Given the description of an element on the screen output the (x, y) to click on. 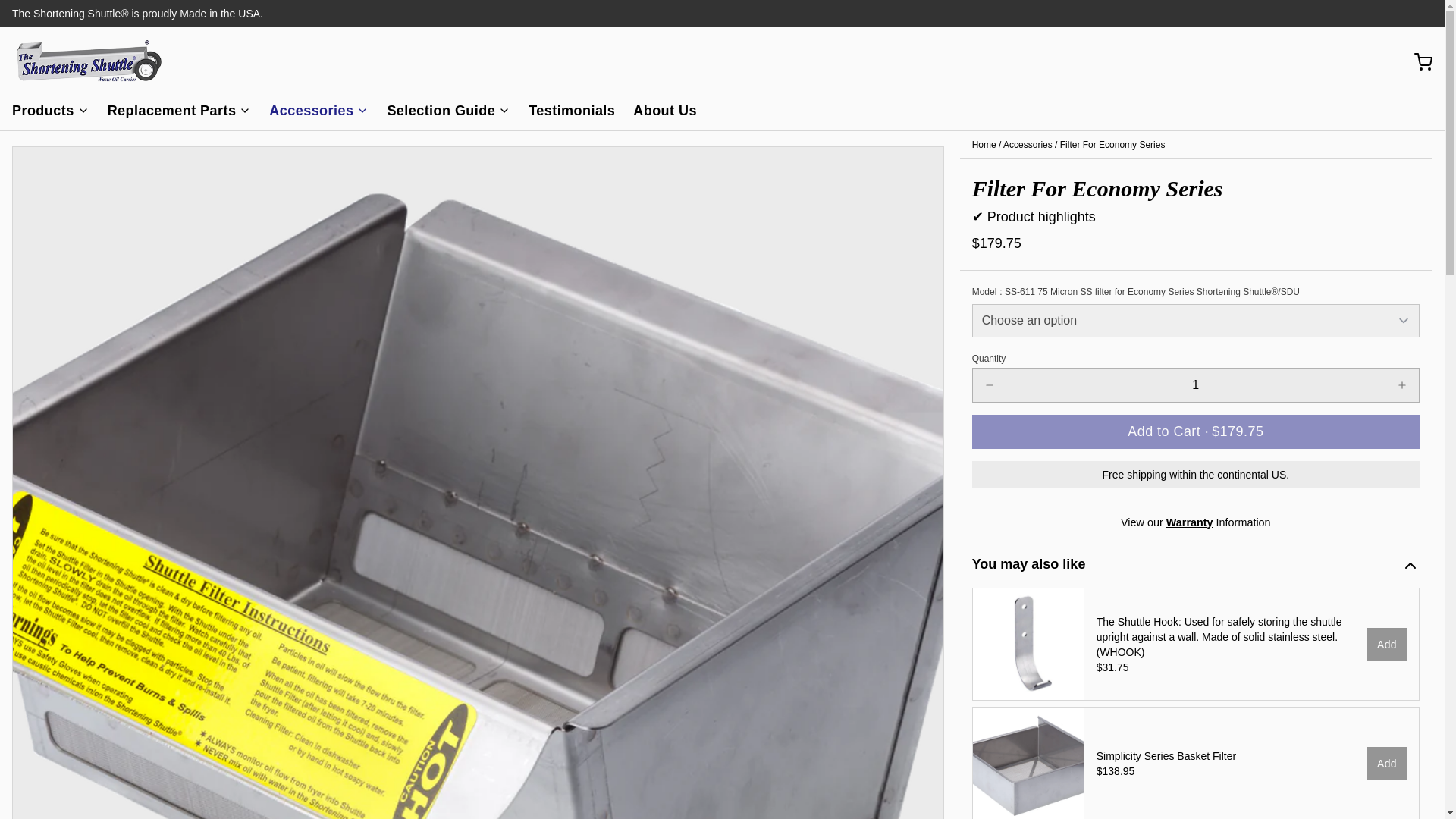
Replacement Parts (185, 113)
Cart (1417, 62)
Home (983, 144)
Selection Guide (454, 113)
About Us (671, 113)
Decrease quantity (989, 385)
Accessories (324, 113)
1 (1196, 385)
Increase quantity (1402, 385)
Products (56, 113)
